Given the description of an element on the screen output the (x, y) to click on. 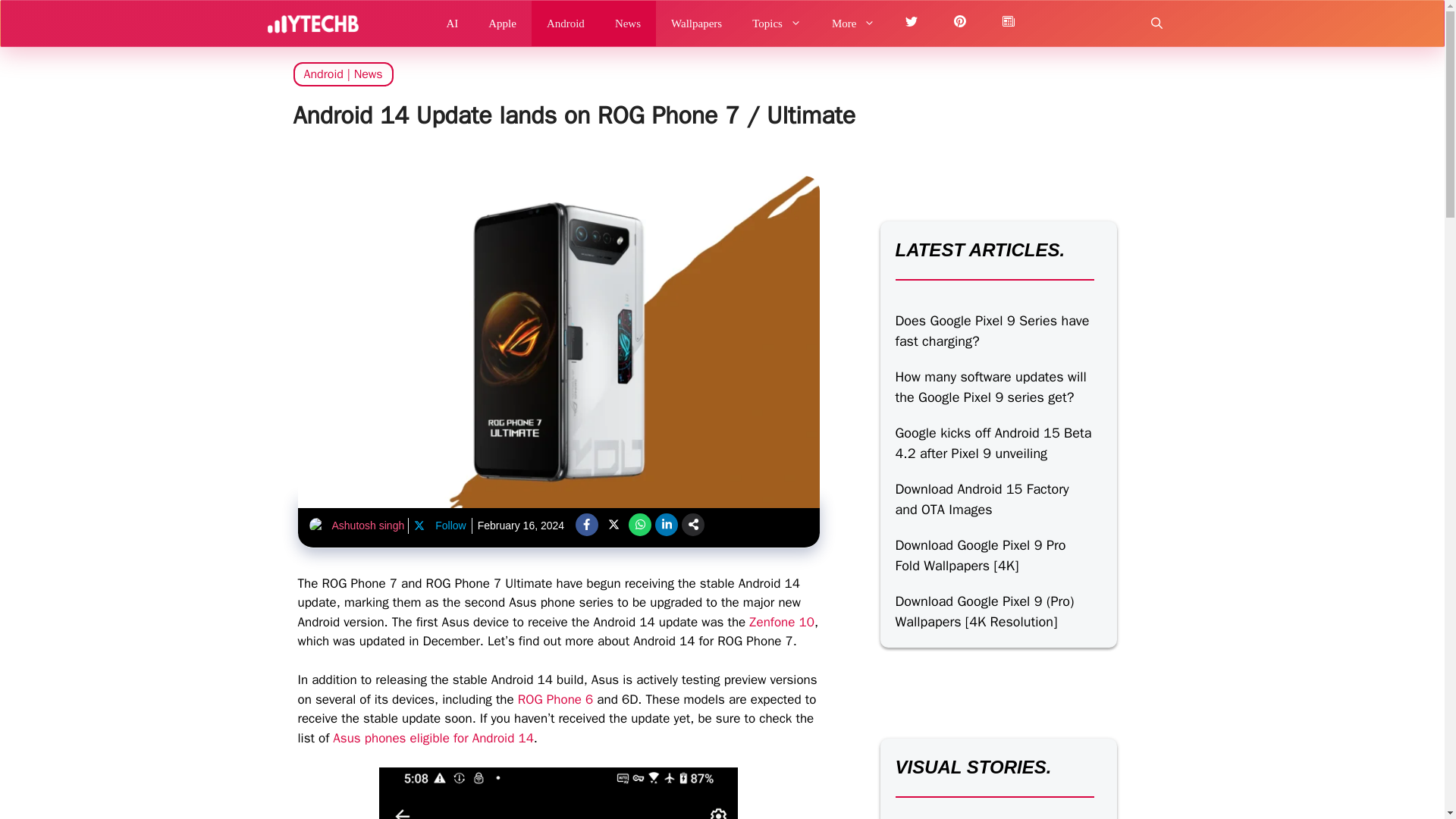
YTECHB (312, 22)
Follow (438, 525)
News (367, 73)
Android (565, 22)
Ashutosh singh (367, 525)
Topics (776, 22)
More (853, 22)
AI (451, 22)
Apple (502, 22)
Android (322, 73)
